Given the description of an element on the screen output the (x, y) to click on. 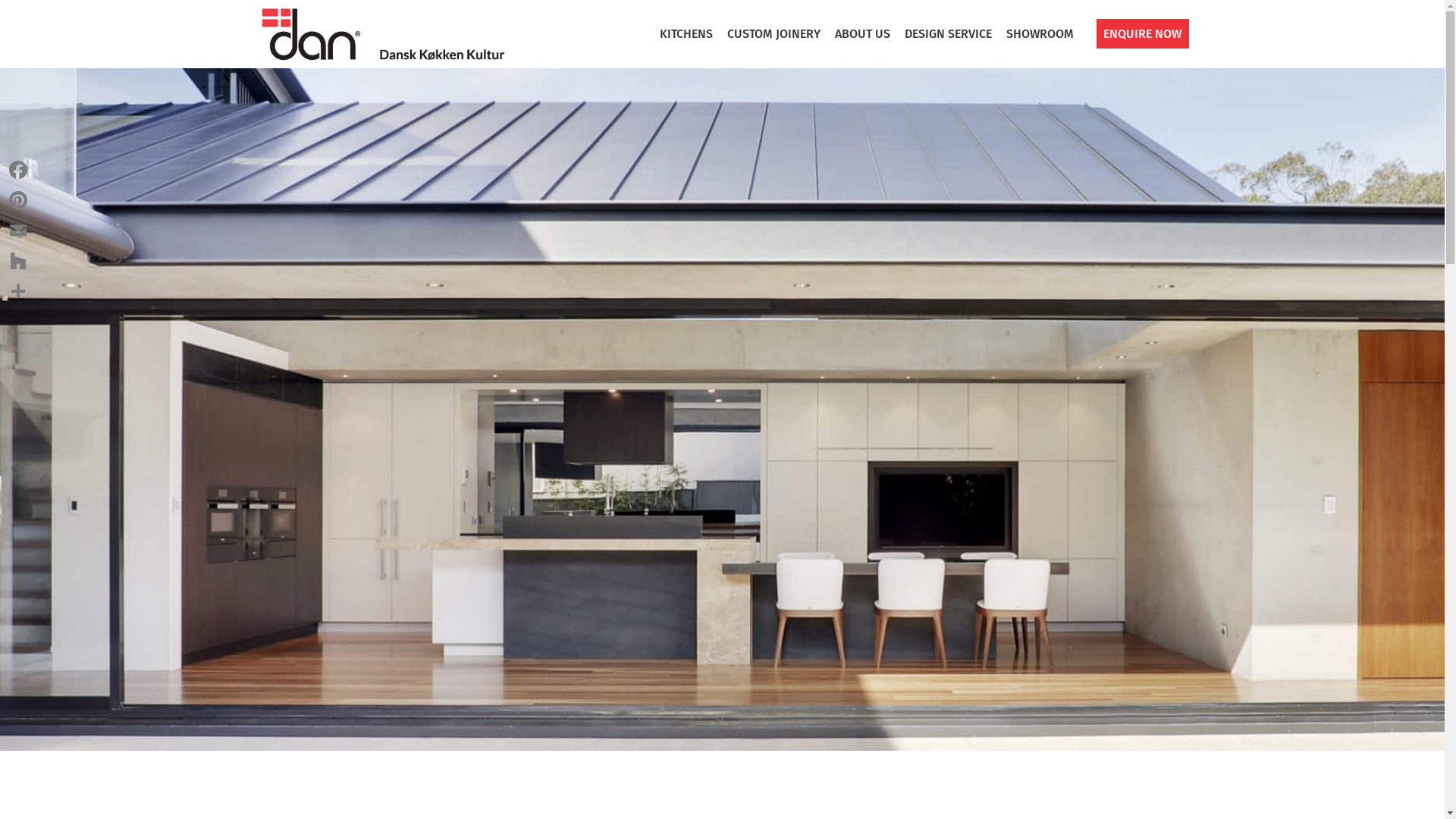
Email Element type: text (18, 230)
ABOUT US Element type: text (862, 34)
Pinterest Element type: text (18, 200)
KITCHENS Element type: text (685, 34)
DESIGN SERVICE Element type: text (948, 34)
CUSTOM JOINERY Element type: text (774, 34)
Share Element type: text (18, 291)
Facebook Element type: text (18, 169)
ENQUIRE NOW Element type: text (1135, 34)
Houzz Element type: text (18, 260)
SHOWROOM Element type: text (1040, 34)
